Given the description of an element on the screen output the (x, y) to click on. 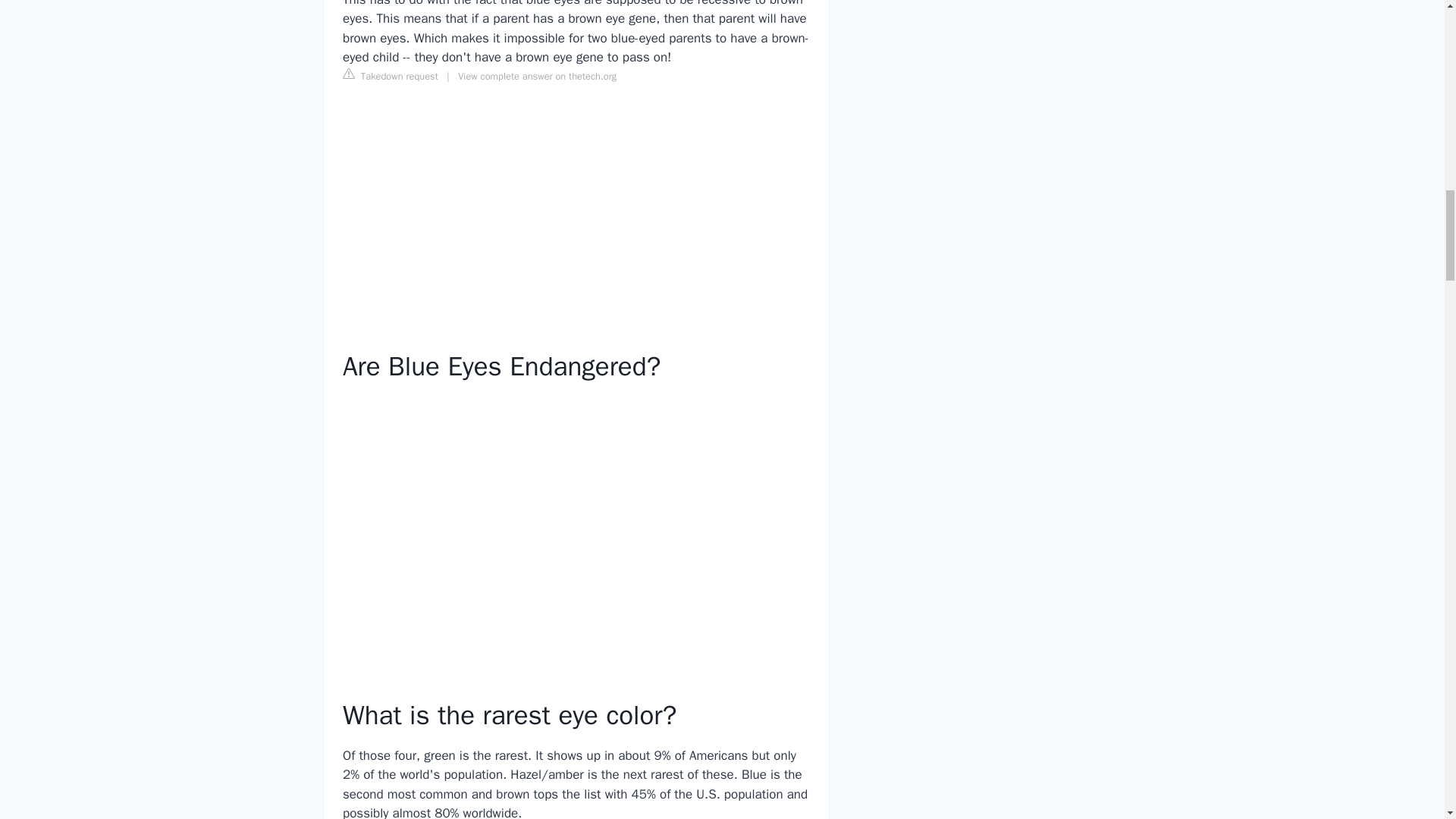
Are Blue Eyes Endangered? (575, 528)
View complete answer on thetech.org (536, 76)
Takedown request (390, 75)
